Given the description of an element on the screen output the (x, y) to click on. 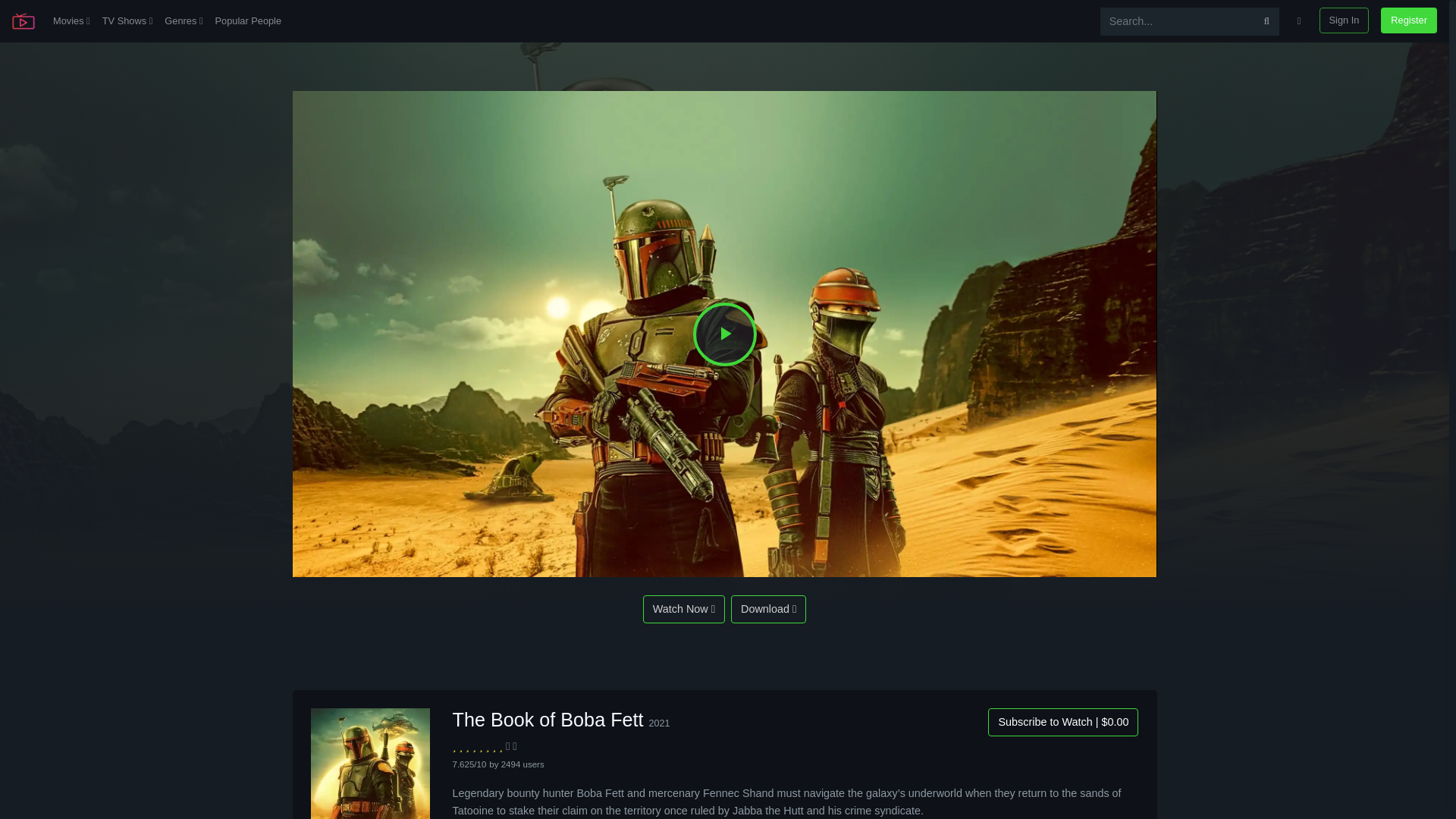
Movies (71, 21)
TV Shows (127, 21)
